Given the description of an element on the screen output the (x, y) to click on. 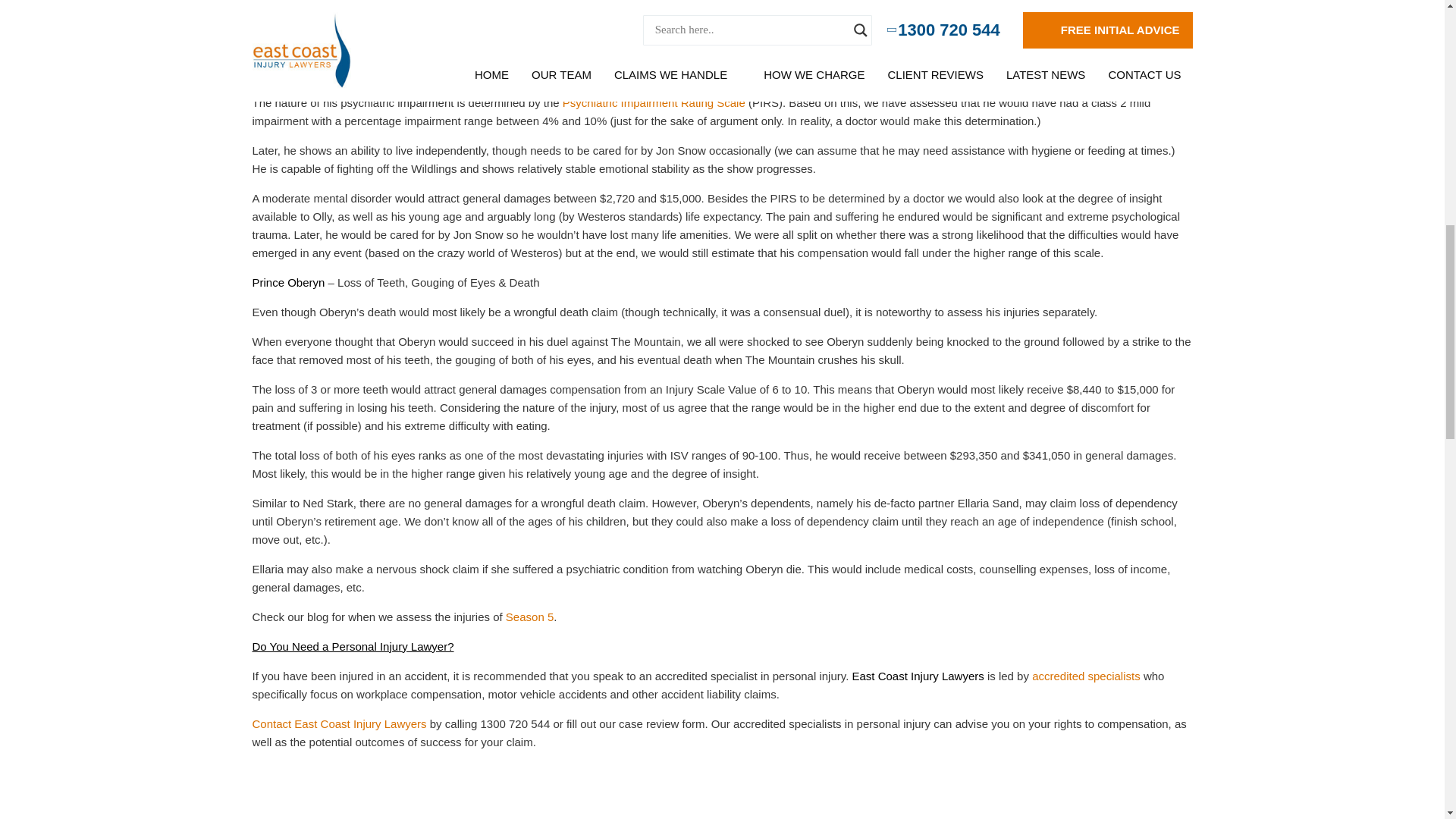
Season 5 (529, 616)
accredited specialists (1086, 675)
Psychiatric Impairment Rating Scale (653, 102)
